Given the description of an element on the screen output the (x, y) to click on. 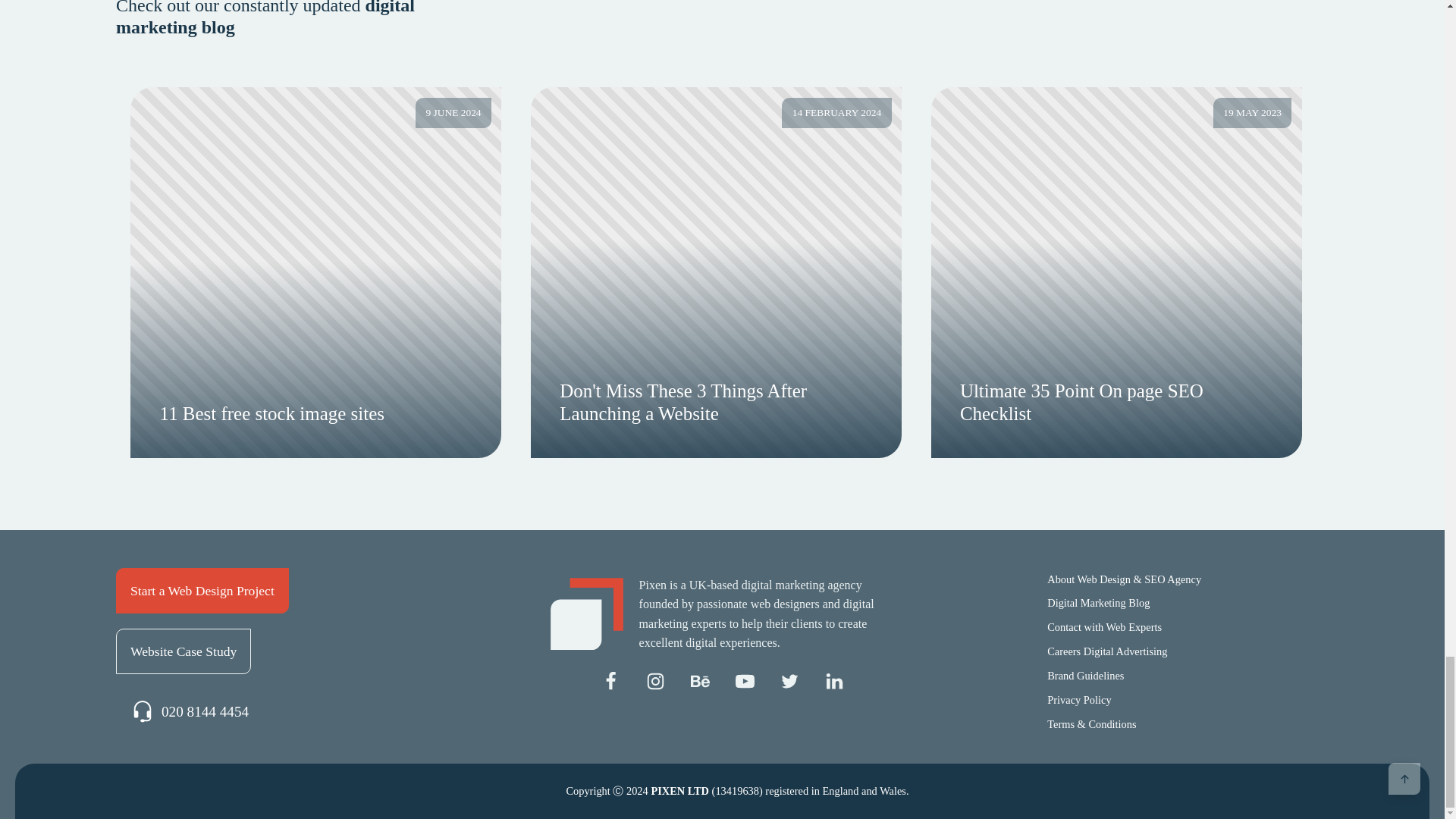
Ultimate 35 Point On page SEO Checklist (1115, 402)
Careers Digital Advertising (1106, 651)
Website Case Study (183, 651)
Contact with Web Experts (1103, 627)
Start a Web Design Project (202, 590)
Don't Miss These 3 Things After Launching a Website (715, 402)
11 Best free stock image sites (316, 413)
020 8144 4454 (190, 712)
Digital Marketing Blog (1097, 603)
